Given the description of an element on the screen output the (x, y) to click on. 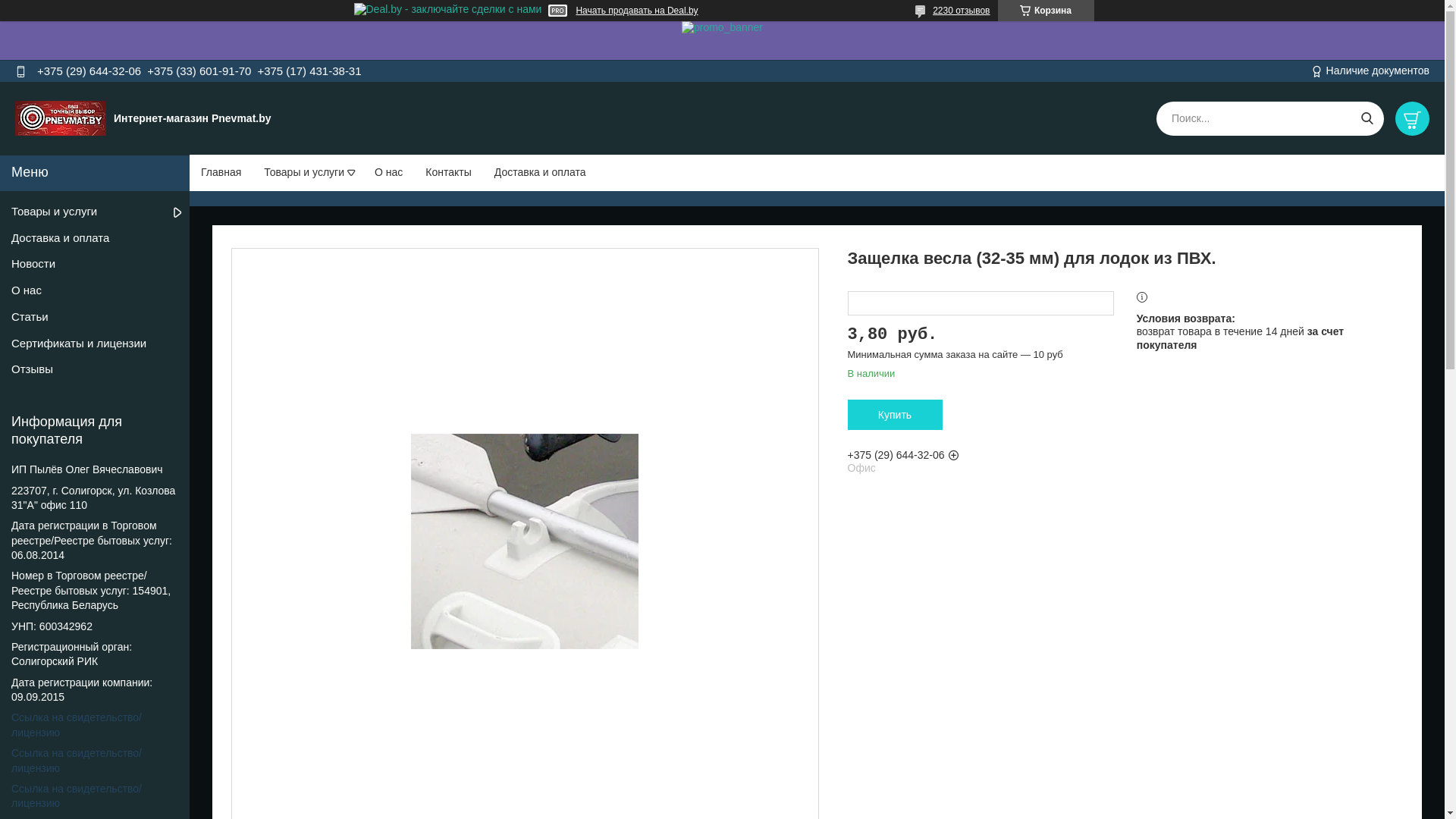
Pnevmat.by Element type: hover (60, 117)
